Given the description of an element on the screen output the (x, y) to click on. 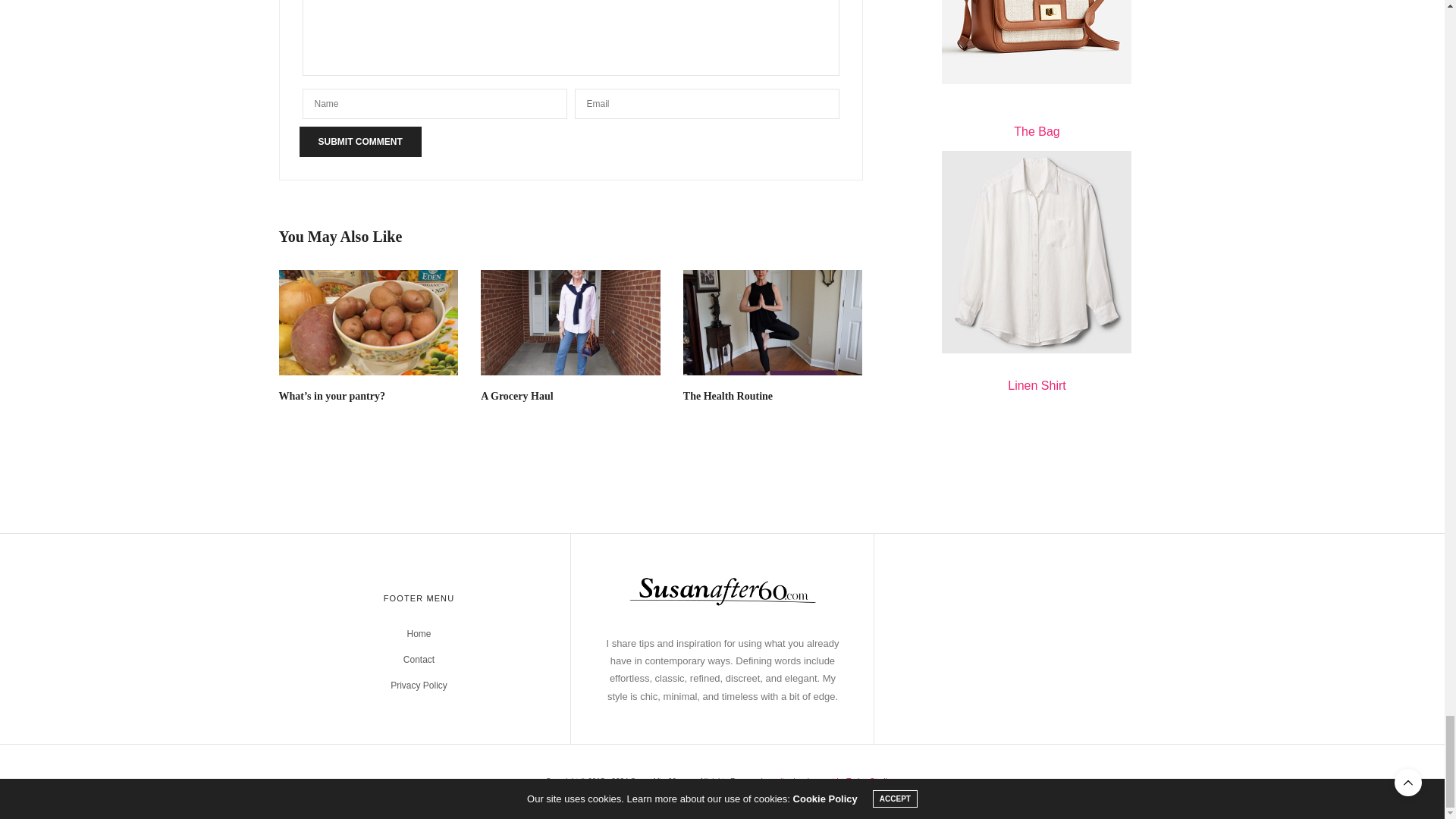
A Grocery Haul (516, 396)
The Health Routine (727, 396)
The Health Routine (772, 322)
A Grocery Haul (570, 322)
Submit Comment (359, 141)
